Given the description of an element on the screen output the (x, y) to click on. 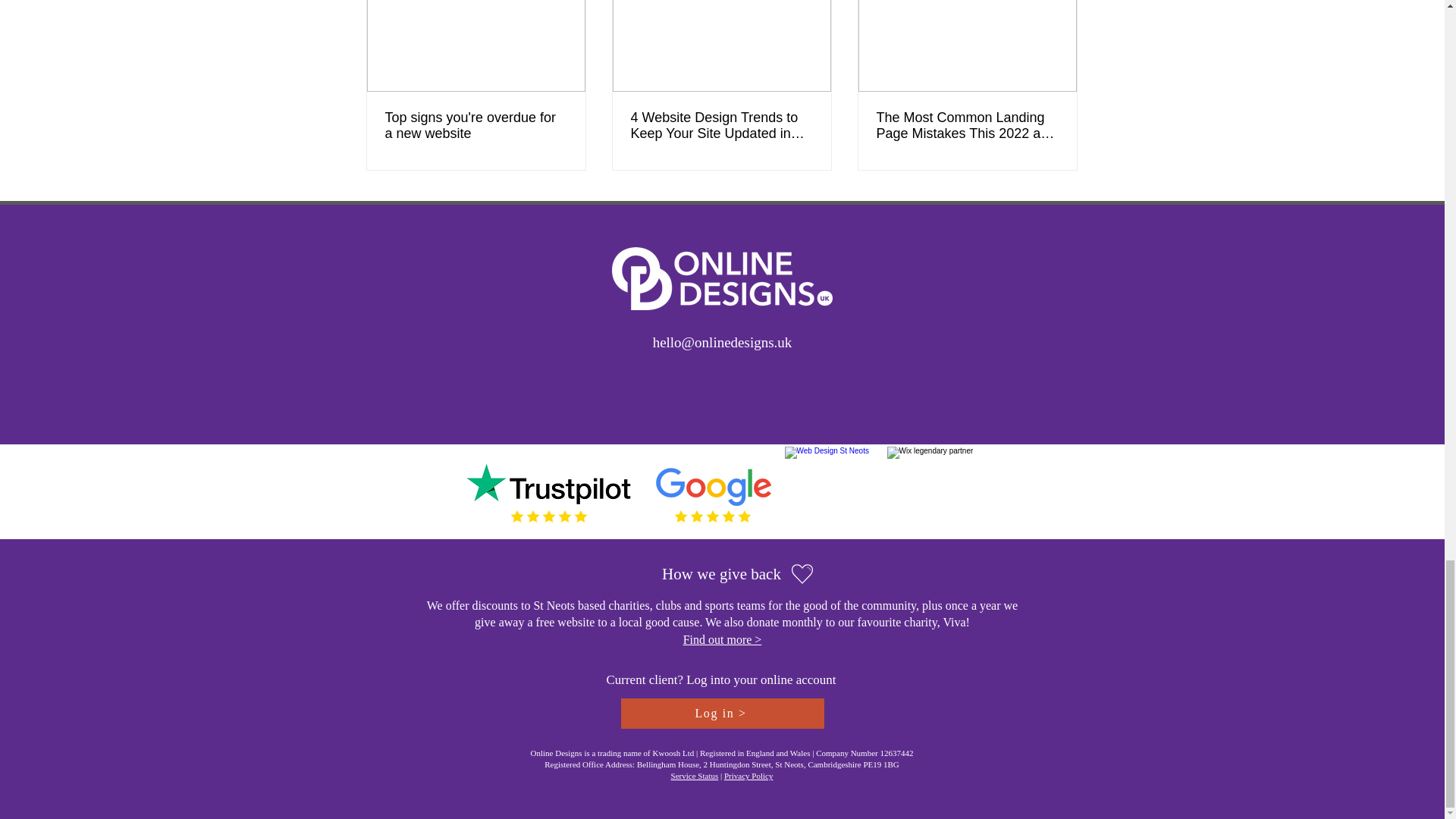
Privacy Policy (748, 775)
Service Status (695, 775)
Screenshot 2023-09-04 at 09.33.59.png (931, 491)
4 Website Design Trends to Keep Your Site Updated in 2023 (721, 125)
Top signs you're overdue for a new website (476, 125)
